Given the description of an element on the screen output the (x, y) to click on. 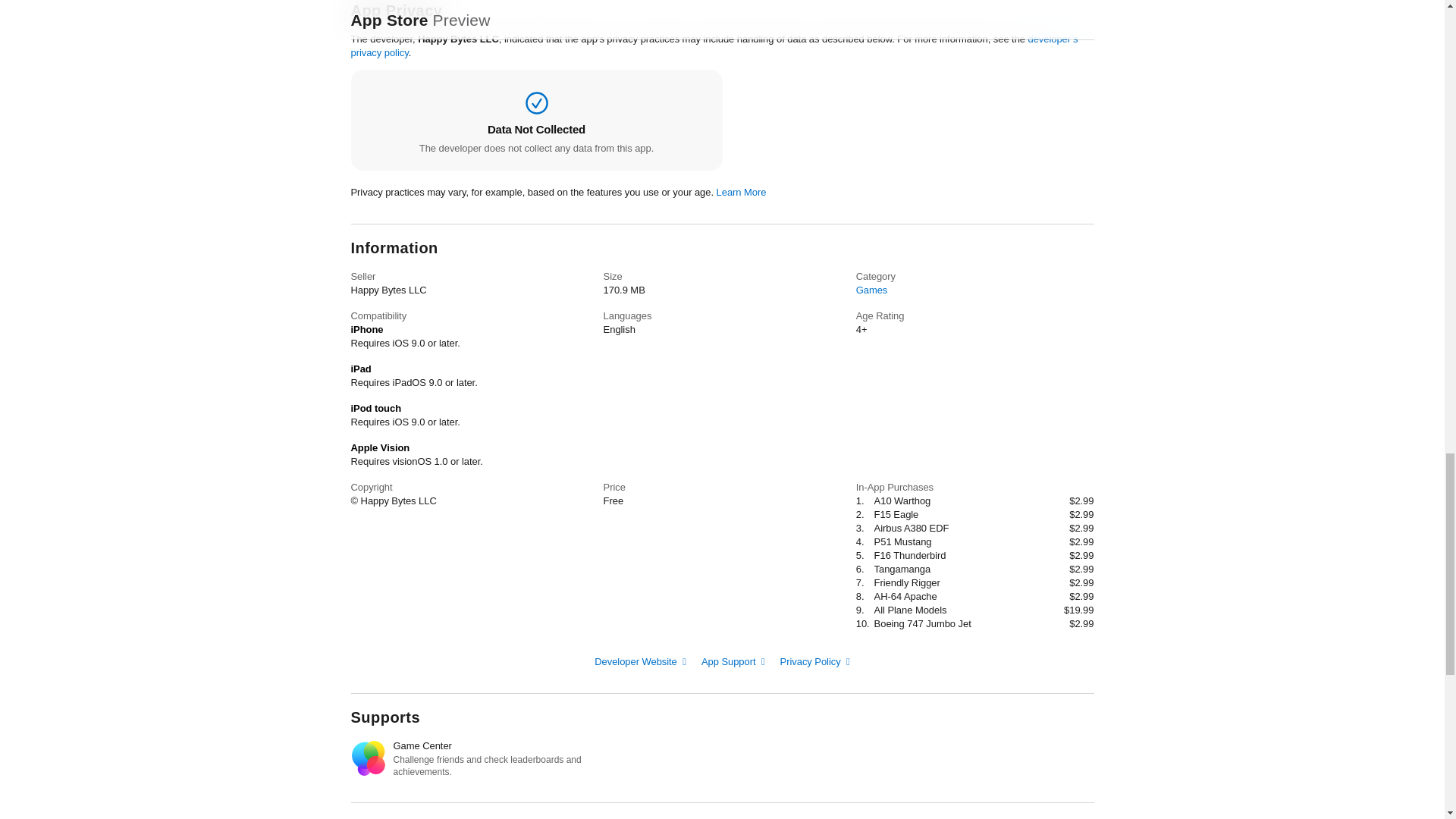
Learn More (741, 192)
App Support (733, 661)
Games (872, 289)
Privacy Policy (815, 661)
Developer Website (639, 661)
